Given the description of an element on the screen output the (x, y) to click on. 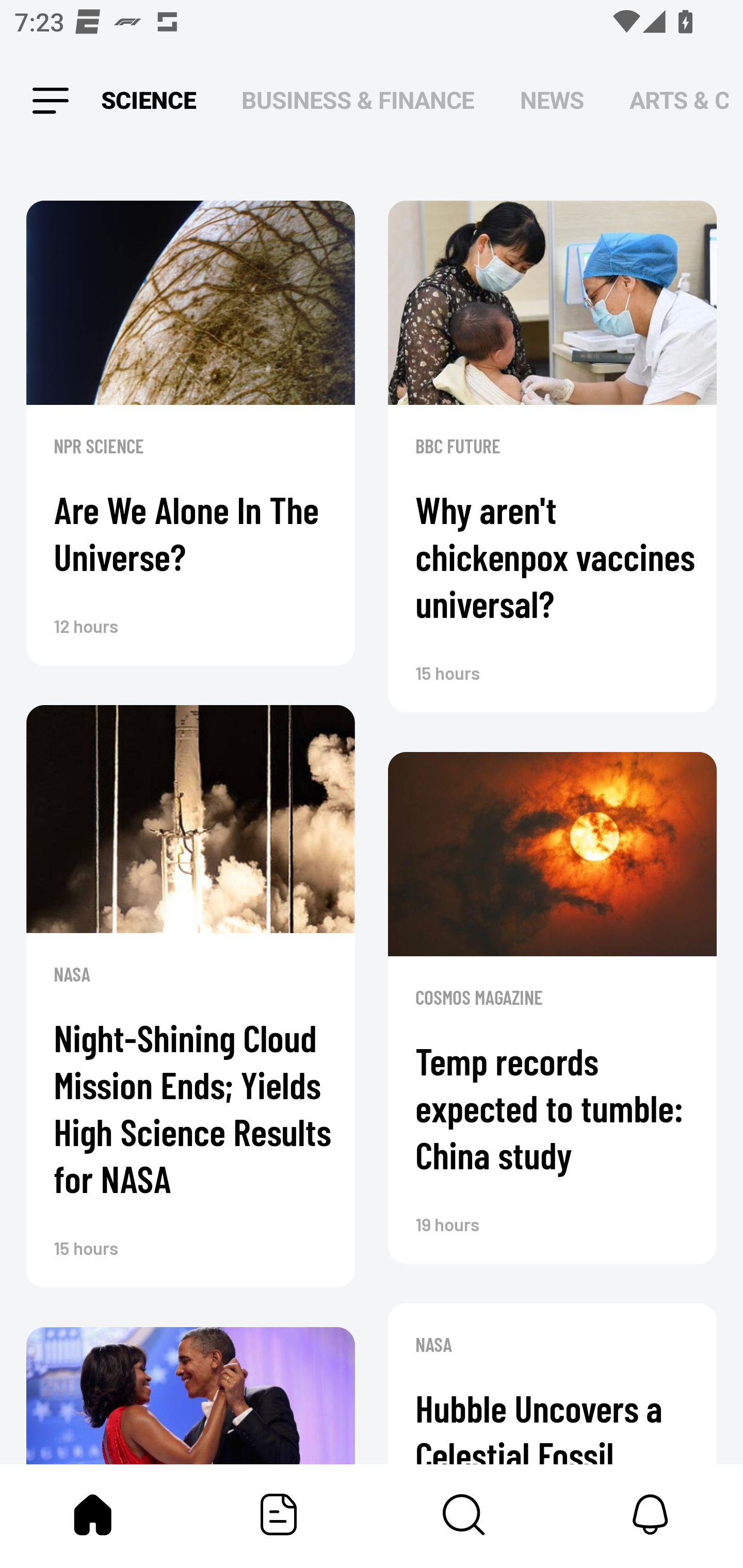
Leading Icon (50, 101)
BUSINESS & FINANCE (357, 100)
NEWS (551, 100)
ARTS & CULTURE (678, 100)
Featured (278, 1514)
Content Store (464, 1514)
Notifications (650, 1514)
